Given the description of an element on the screen output the (x, y) to click on. 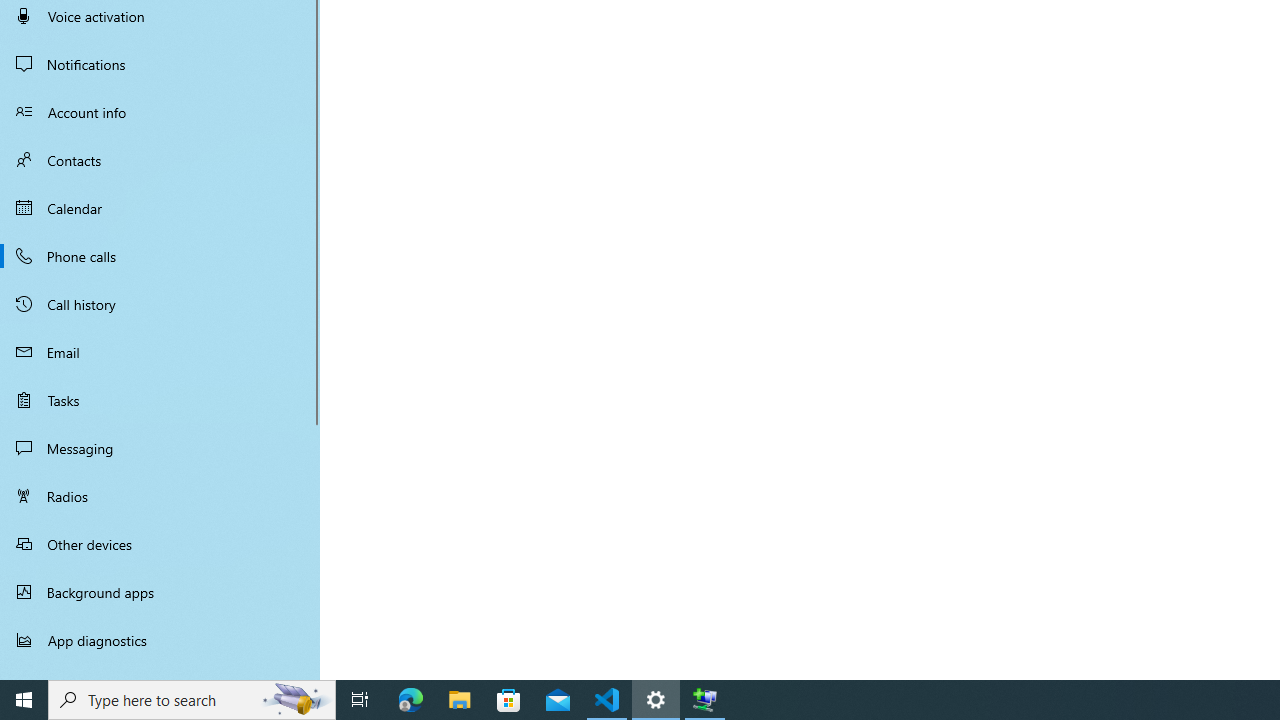
Call history (160, 304)
Tasks (160, 399)
Email (160, 351)
Notifications (160, 63)
Contacts (160, 160)
Start (24, 699)
Messaging (160, 448)
Settings - 1 running window (656, 699)
Radios (160, 495)
